Given the description of an element on the screen output the (x, y) to click on. 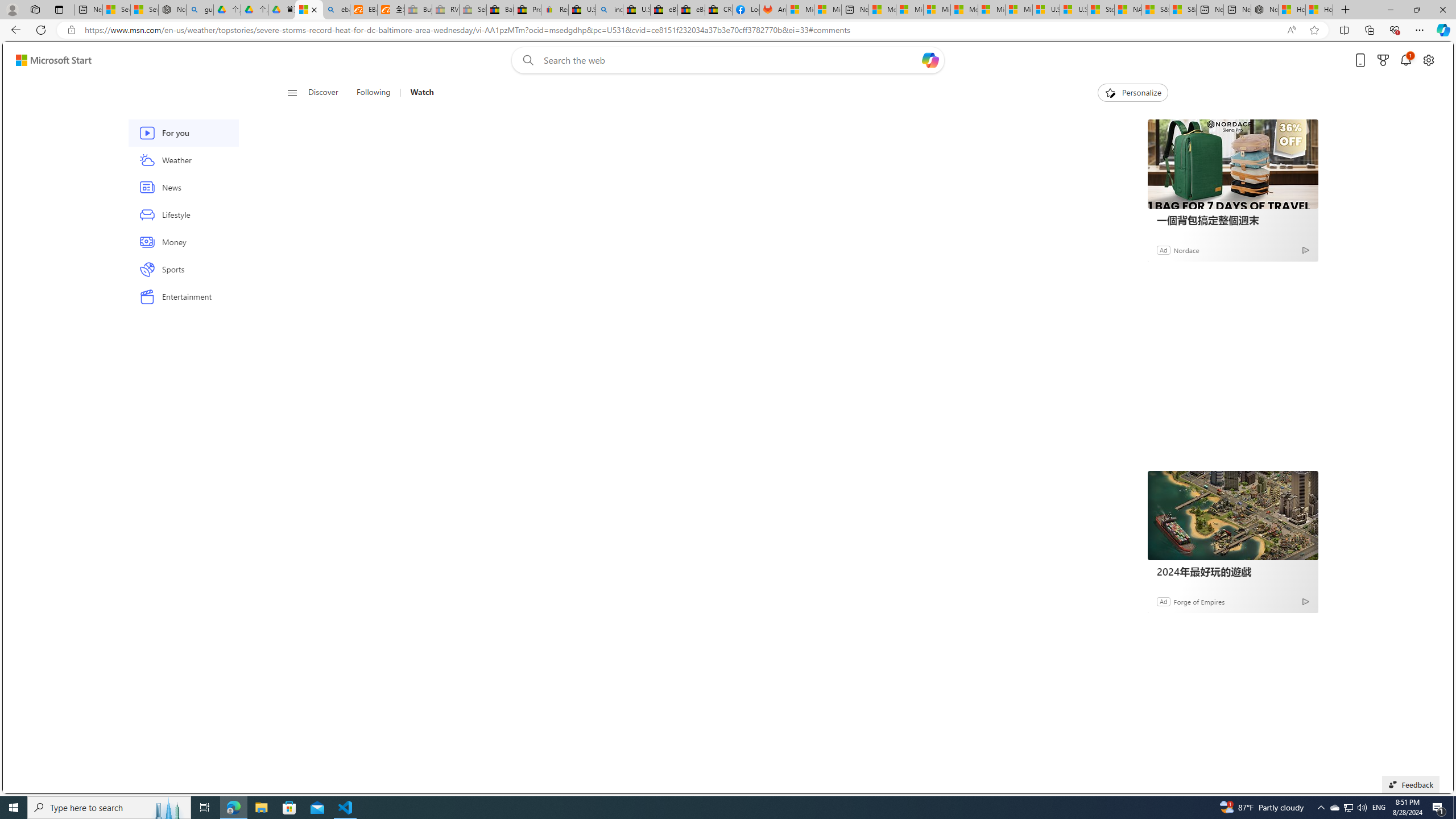
Sell worldwide with eBay - Sleeping (473, 9)
Baby Keepsakes & Announcements for sale | eBay (499, 9)
Web search (526, 60)
Buy Auto Parts & Accessories | eBay - Sleeping (418, 9)
Class: button-glyph (292, 92)
